Given the description of an element on the screen output the (x, y) to click on. 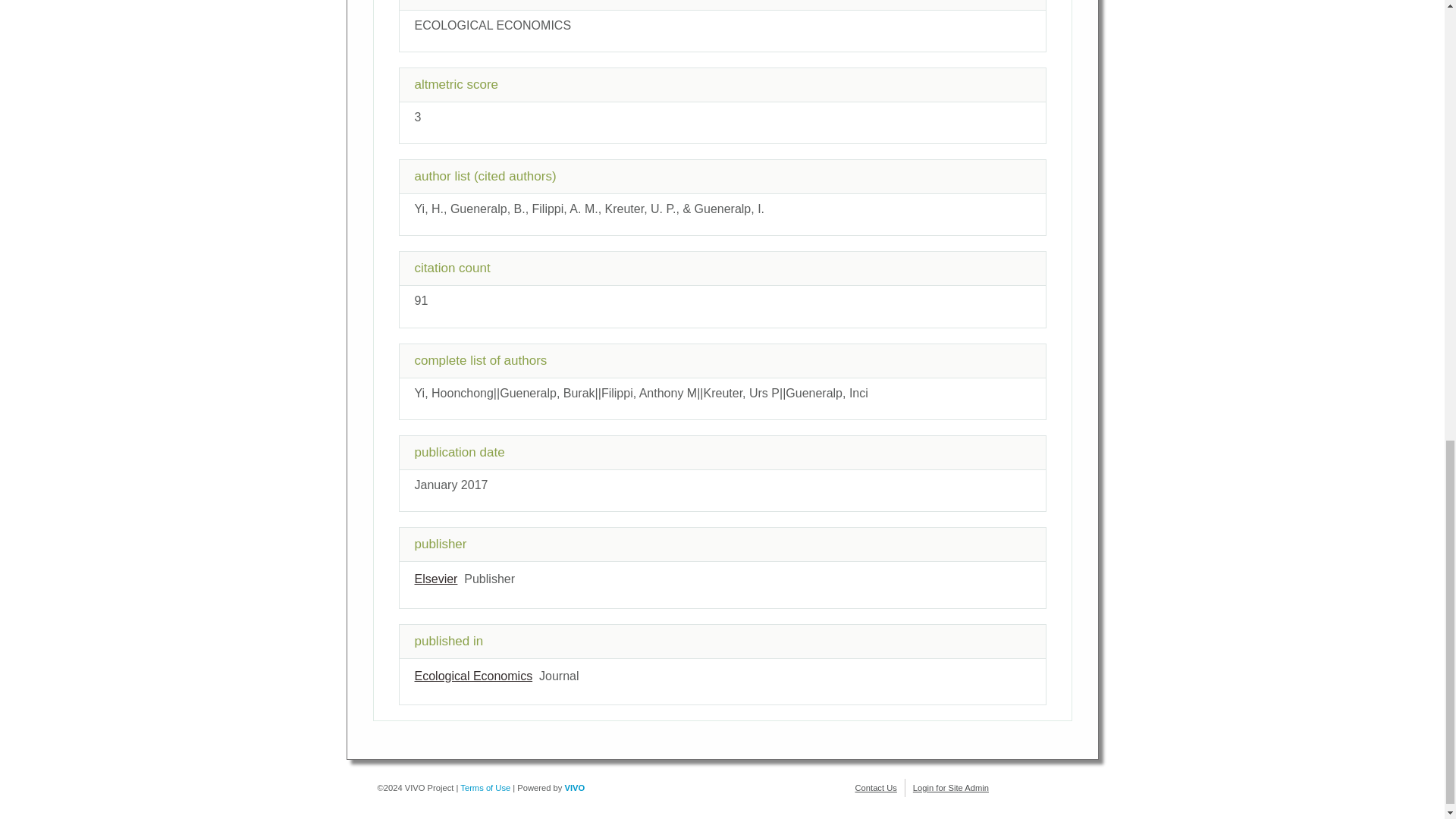
Ecological Economics (472, 675)
Login for Site Admin (950, 787)
VIVO (574, 787)
Contact Us (876, 787)
Elsevier (435, 578)
Terms of Use (485, 787)
